Given the description of an element on the screen output the (x, y) to click on. 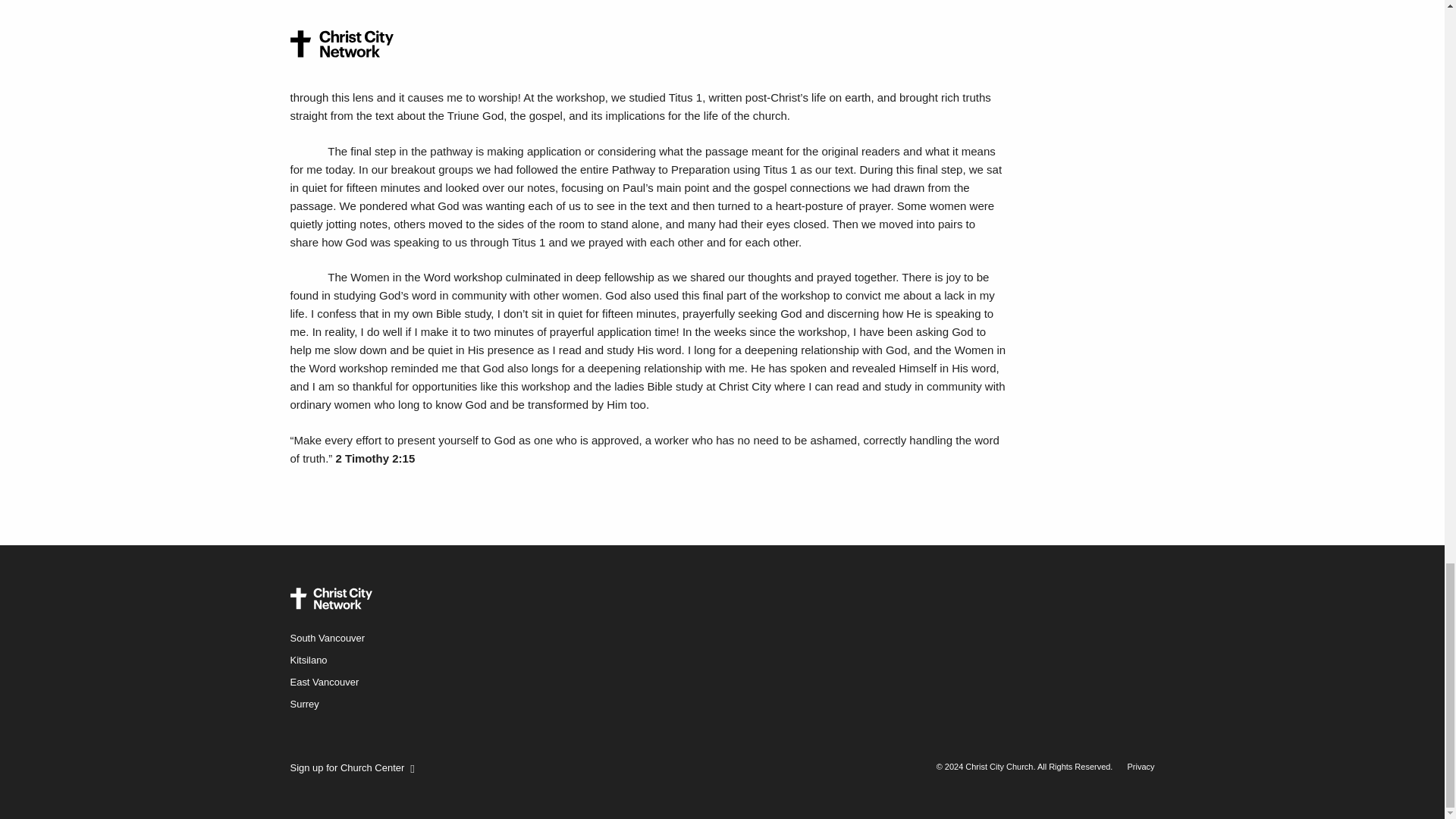
A network of neighbourhood churches (330, 599)
